Given the description of an element on the screen output the (x, y) to click on. 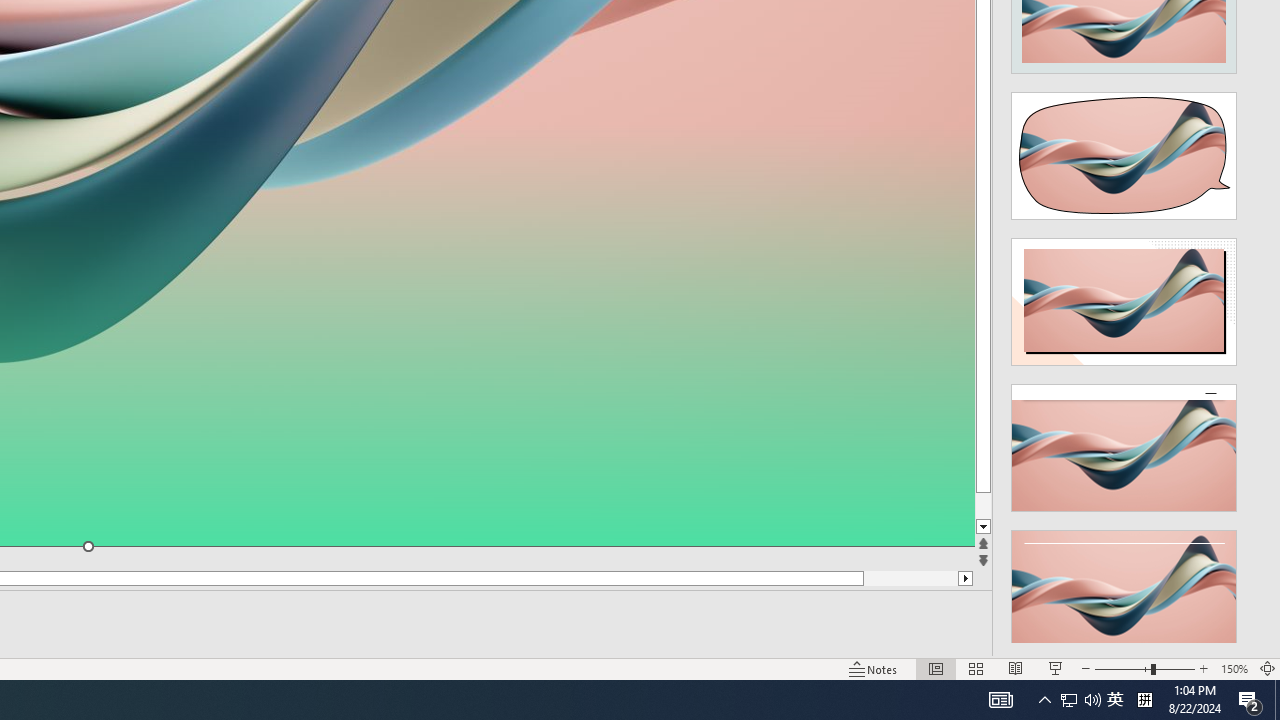
Zoom 150% (1234, 668)
